Given the description of an element on the screen output the (x, y) to click on. 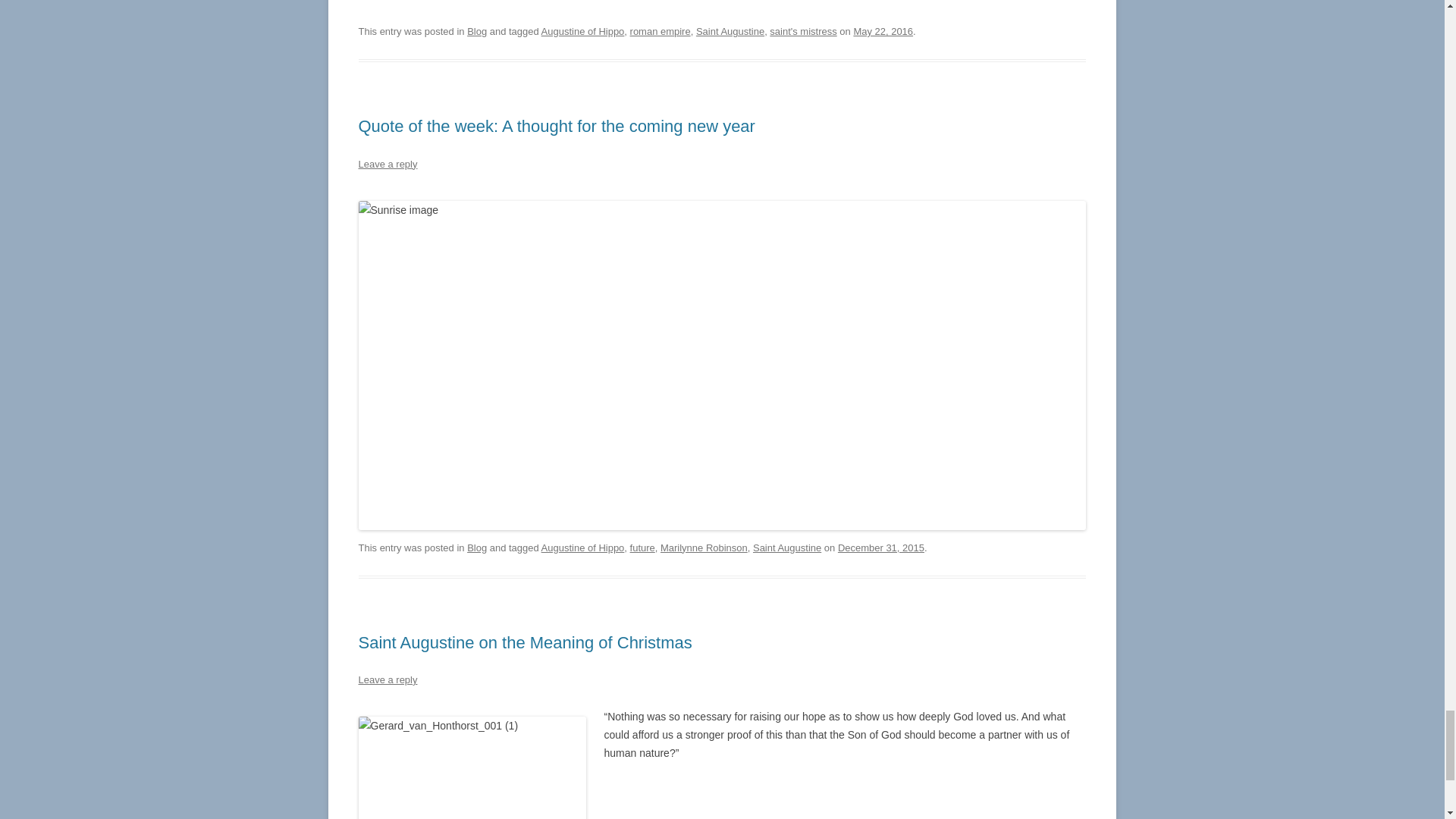
7:32 pm (882, 30)
